Given the description of an element on the screen output the (x, y) to click on. 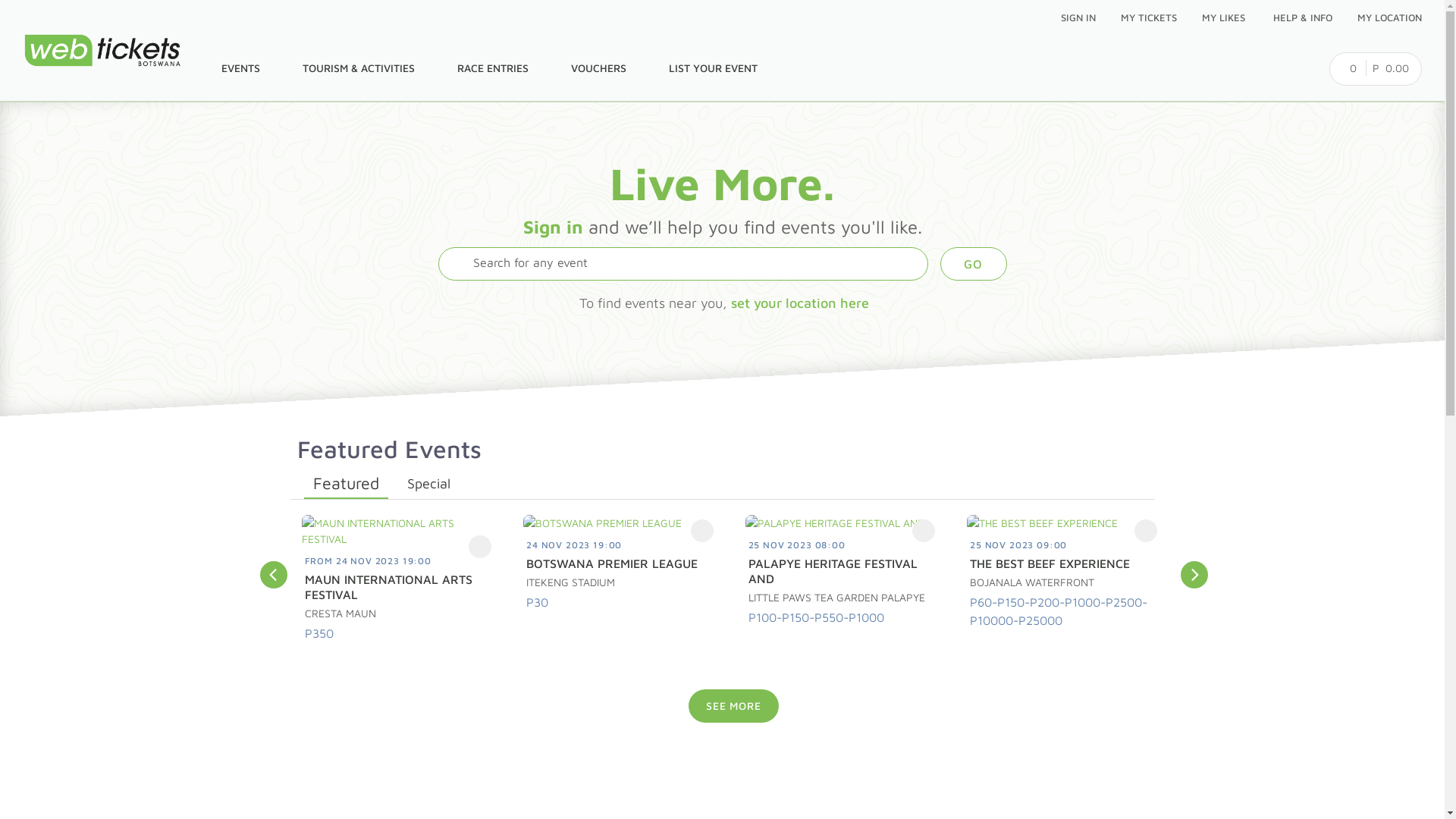
SEE MORE Element type: text (733, 705)
VOUCHERS Element type: text (595, 67)
PALAPYE HERITAGE FESTIVAL AND Element type: text (844, 570)
RACE ENTRIES Element type: text (489, 67)
MY LIKES  Element type: text (1222, 17)
set your location here Element type: text (800, 302)
BOTSWANA PREMIER LEAGUE Element type: text (622, 563)
MY LOCATION Element type: text (1386, 17)
MY TICKETS Element type: text (1145, 17)
SIGN IN Element type: text (1075, 17)
MAUN INTERNATIONAL ARTS FESTIVAL Element type: text (401, 586)
THE BEST BEEF EXPERIENCE Element type: text (1066, 563)
LIST YOUR EVENT Element type: text (710, 67)
Featured Element type: text (336, 480)
Special Element type: text (428, 483)
HELP & INFO Element type: text (1299, 17)
Sign in Element type: text (553, 226)
GO Element type: text (973, 263)
TOURISM & ACTIVITIES Element type: text (355, 67)
EVENTS Element type: text (237, 67)
